Given the description of an element on the screen output the (x, y) to click on. 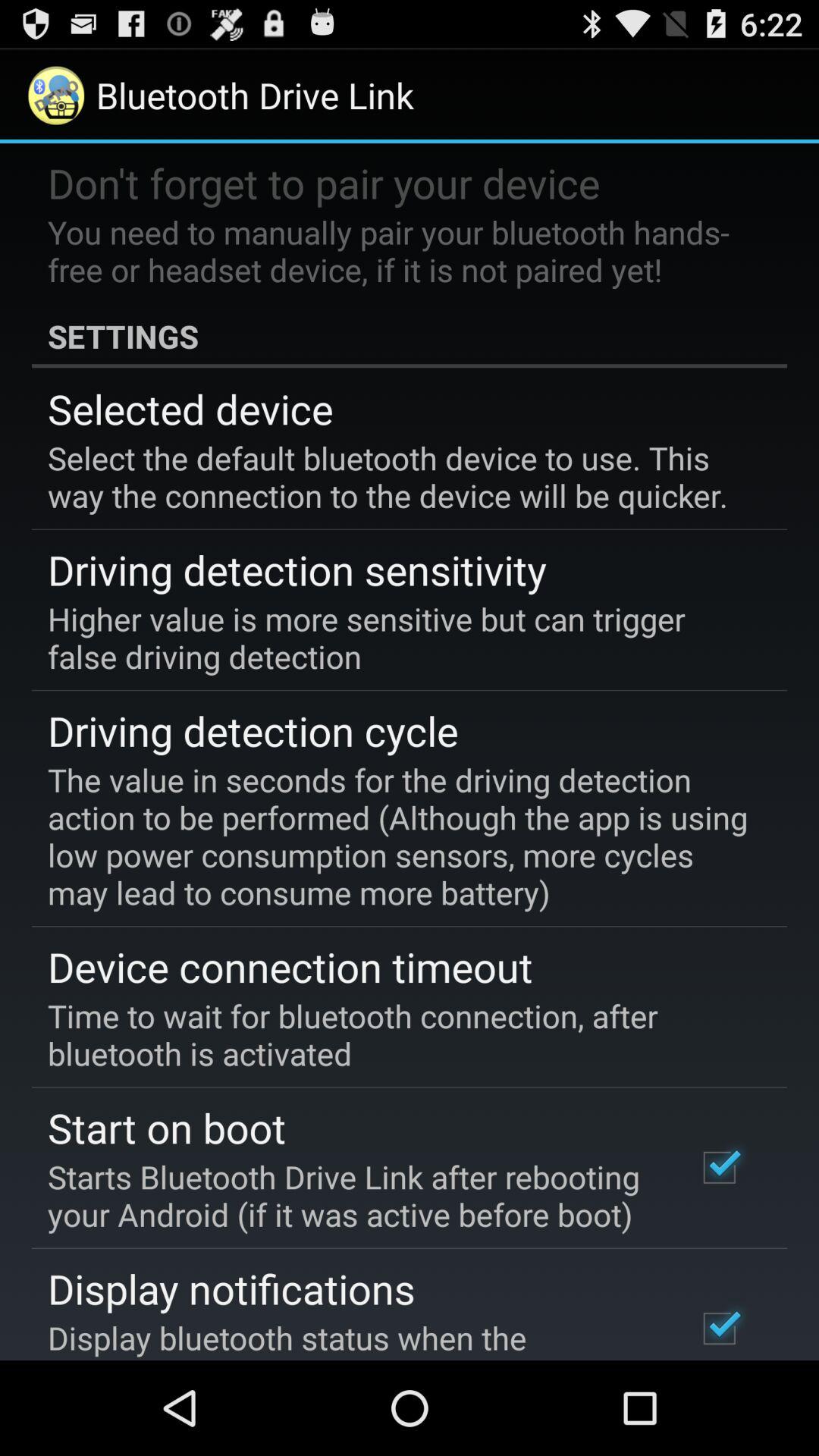
turn on item below don t forget item (399, 250)
